Given the description of an element on the screen output the (x, y) to click on. 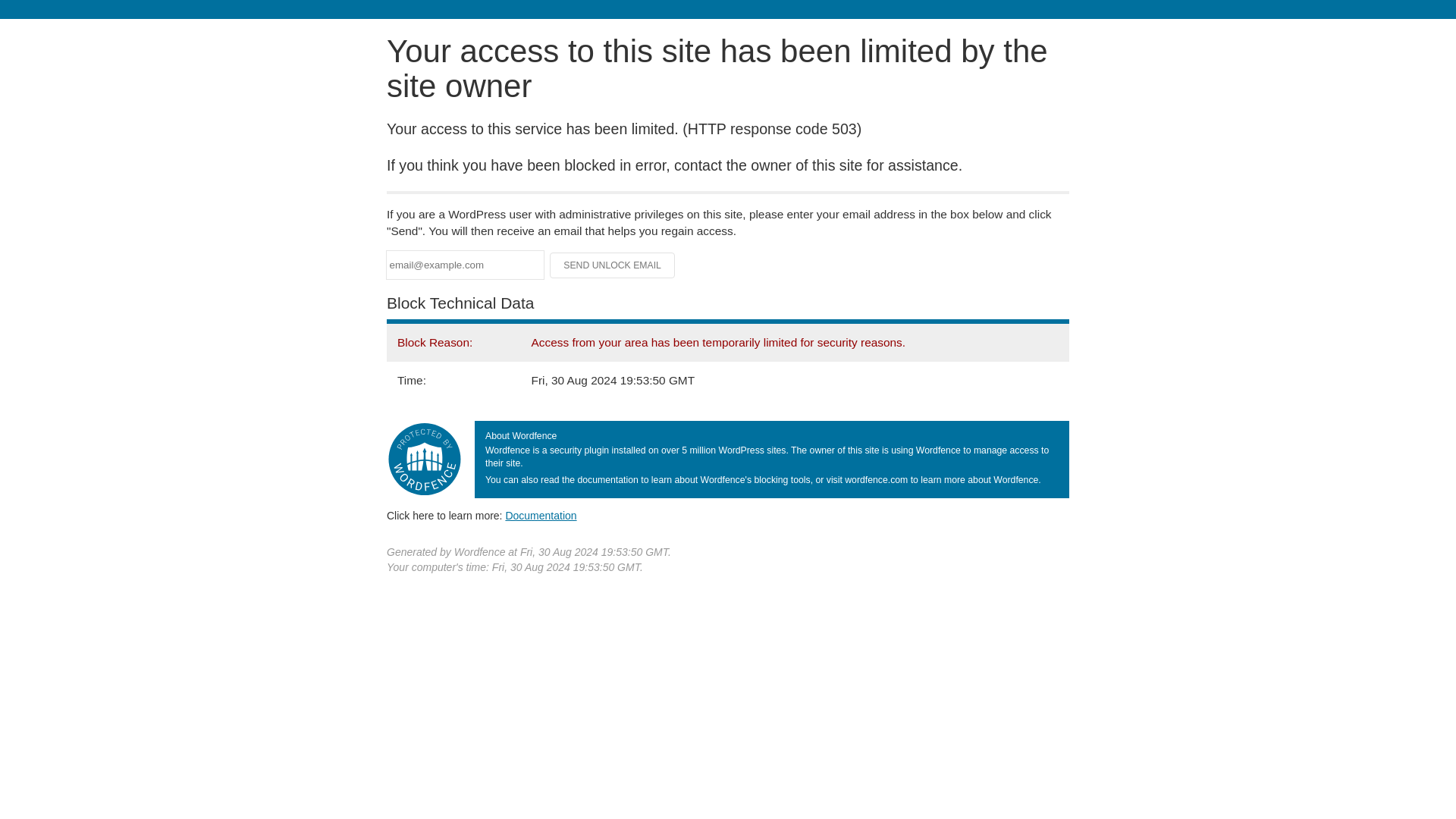
Send Unlock Email (612, 265)
Documentation (540, 515)
Send Unlock Email (612, 265)
